Given the description of an element on the screen output the (x, y) to click on. 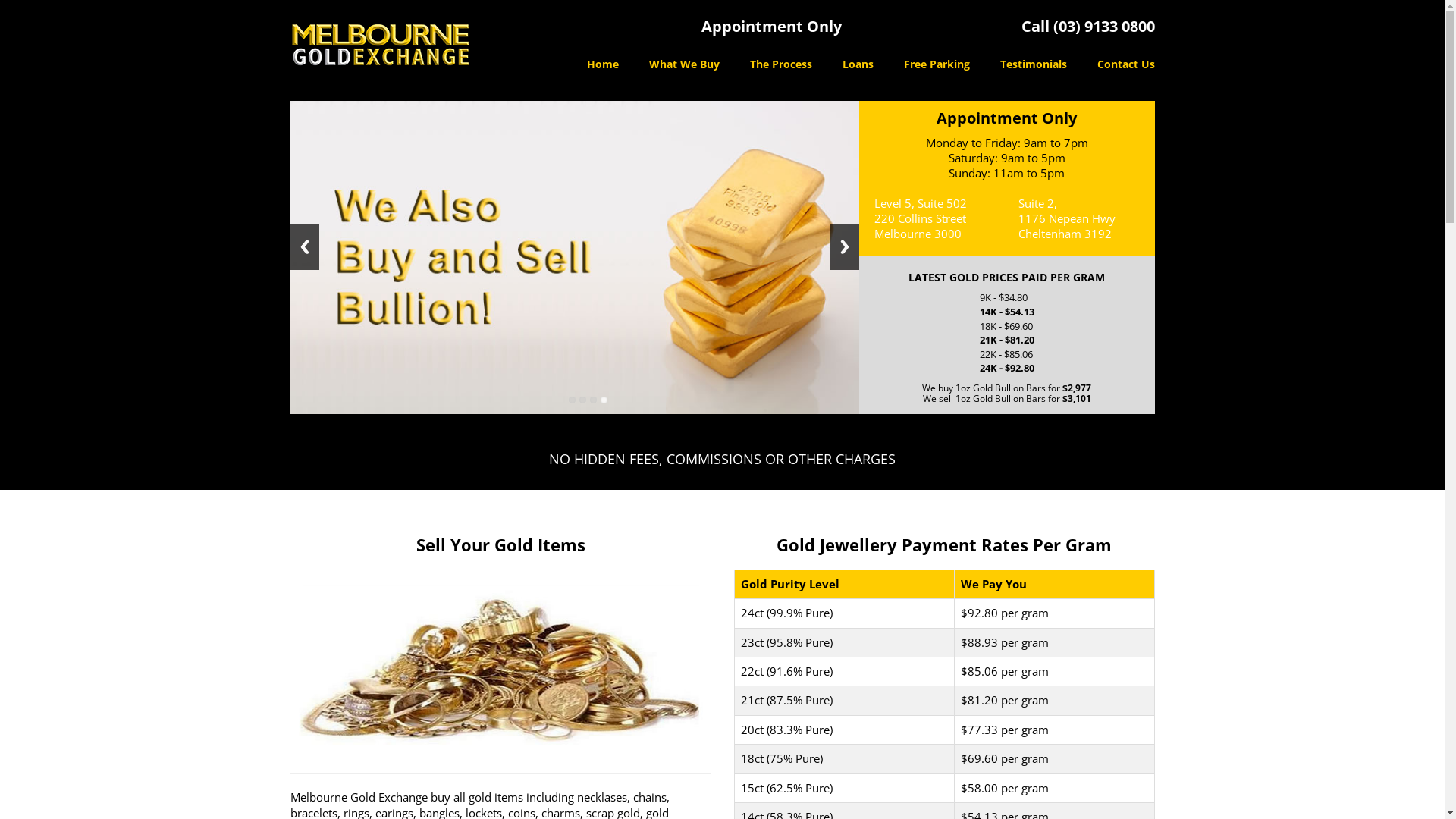
Call (03) 9133 0800 Element type: text (1087, 25)
What We Buy Element type: text (683, 65)
2 Element type: text (582, 399)
Next Element type: text (843, 246)
Testimonials Element type: text (1032, 65)
Free Parking Element type: text (936, 65)
1 Element type: text (571, 399)
4 Element type: text (603, 399)
3 Element type: text (592, 399)
Loans Element type: text (857, 65)
Home Element type: text (602, 65)
The Process Element type: text (780, 65)
Contact Us Element type: text (1117, 65)
Previous Element type: text (303, 246)
